Given the description of an element on the screen output the (x, y) to click on. 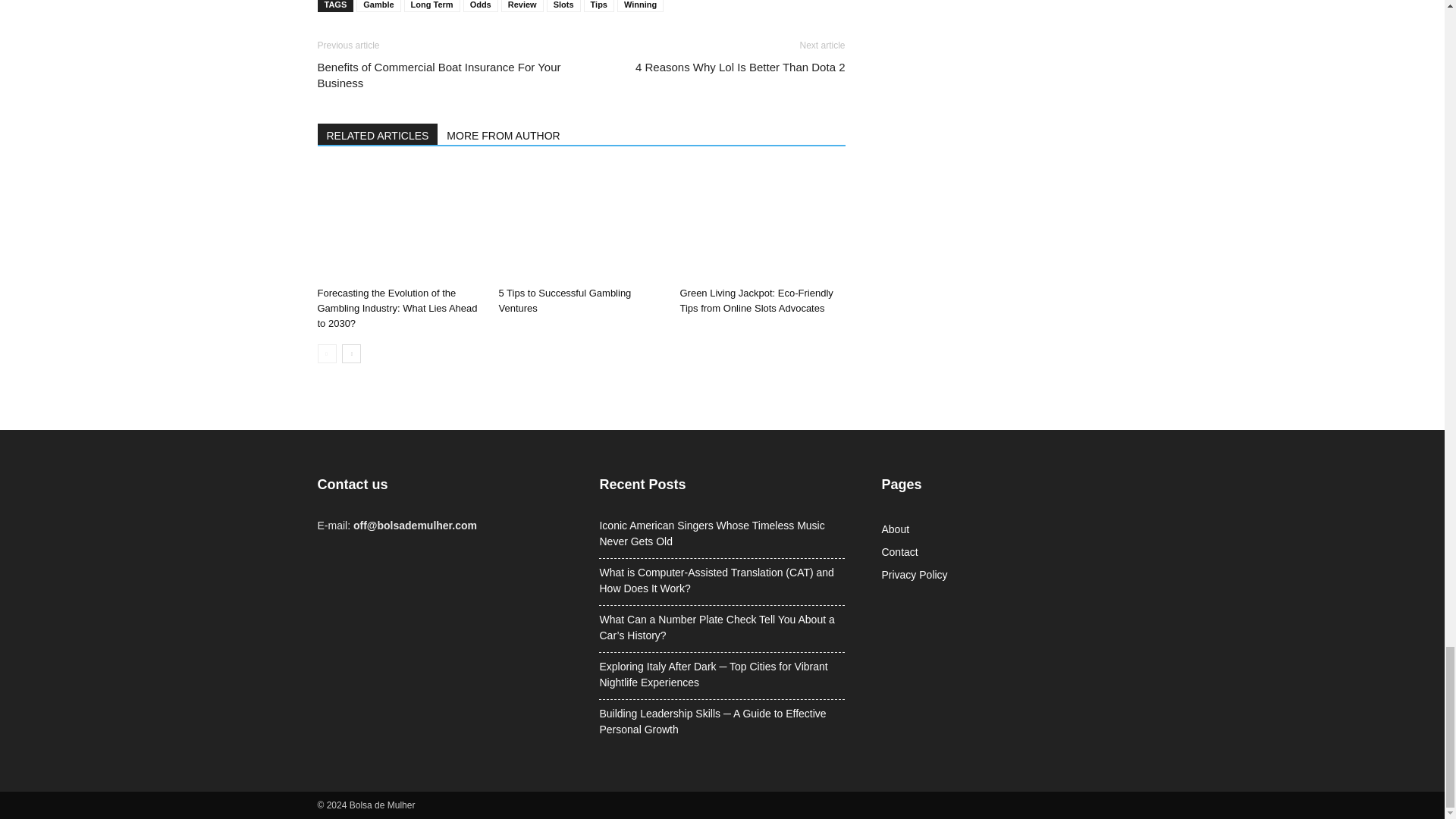
Odds (480, 6)
Slots (563, 6)
Gamble (378, 6)
5 Tips to Successful Gambling Ventures (563, 300)
Tips (598, 6)
Review (521, 6)
